Given the description of an element on the screen output the (x, y) to click on. 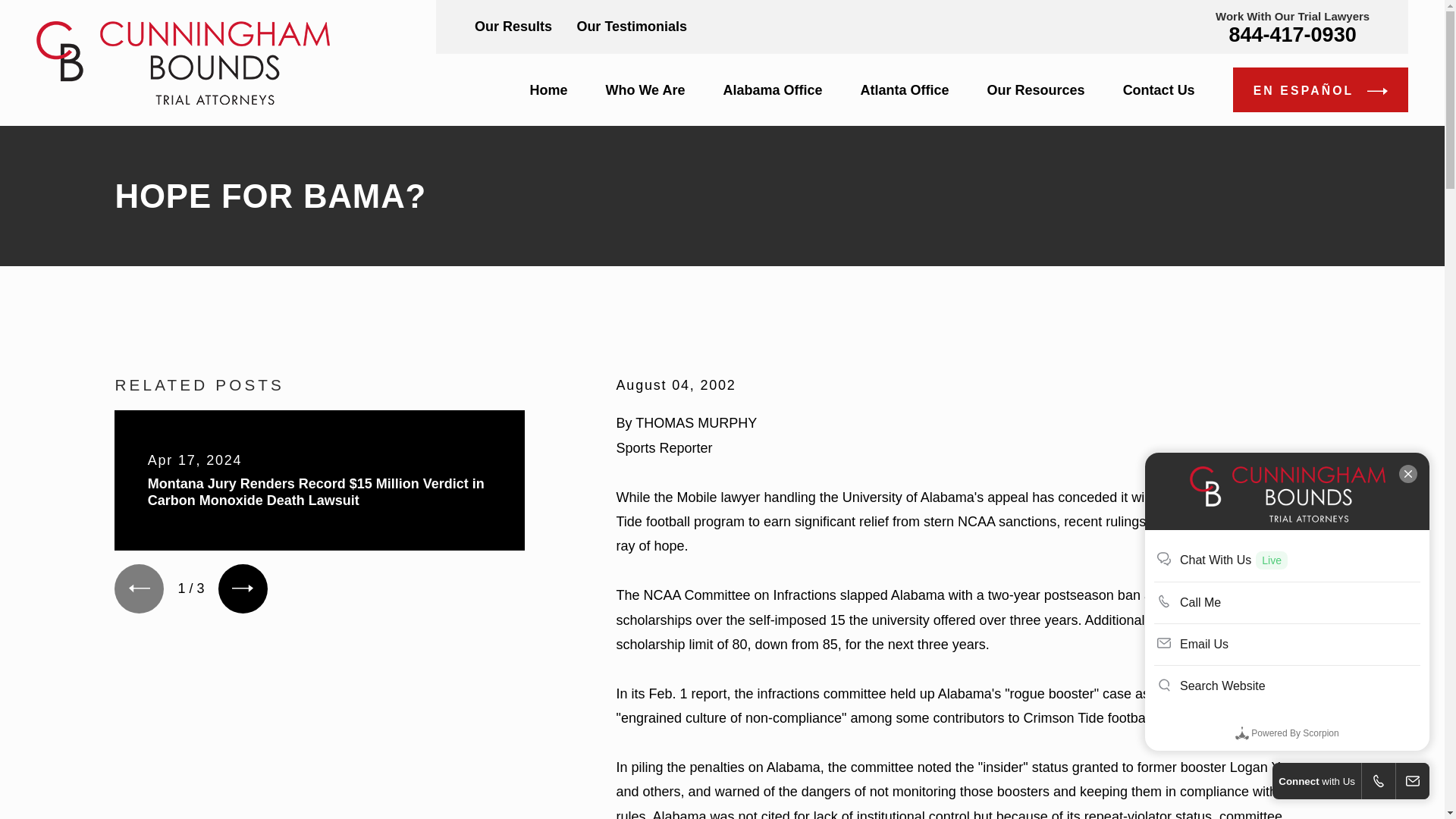
Alabama Office (772, 89)
Atlanta Office (904, 89)
Our Testimonials (631, 26)
Home (183, 62)
View previous item (139, 588)
View next item (242, 588)
Our Resources (1035, 89)
844-417-0930 (1292, 35)
Who We Are (644, 89)
Our Results (512, 26)
